Given the description of an element on the screen output the (x, y) to click on. 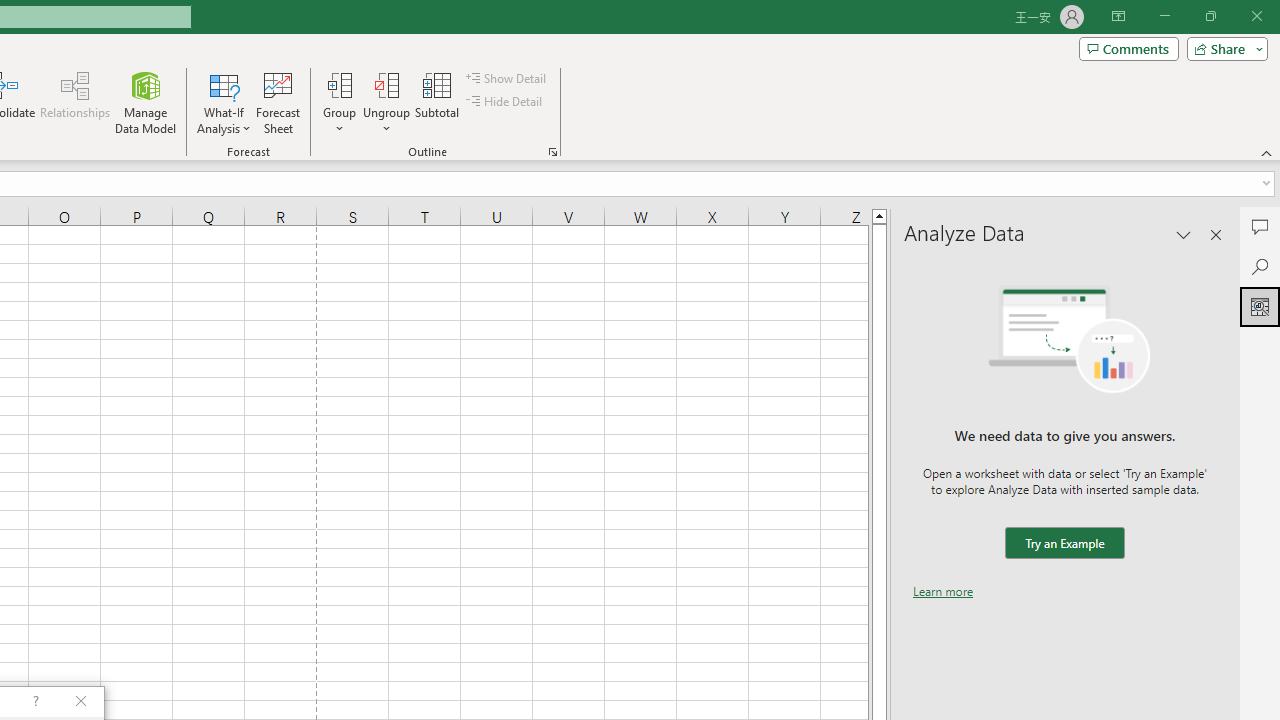
Comments (1128, 48)
Minimize (1164, 16)
Comments (1260, 226)
Learn more (943, 591)
Task Pane Options (1183, 234)
Share (1223, 48)
More Options (386, 121)
Group... (339, 102)
Line up (879, 215)
Subtotal (437, 102)
What-If Analysis (223, 102)
Restore Down (1210, 16)
Search (1260, 266)
